Given the description of an element on the screen output the (x, y) to click on. 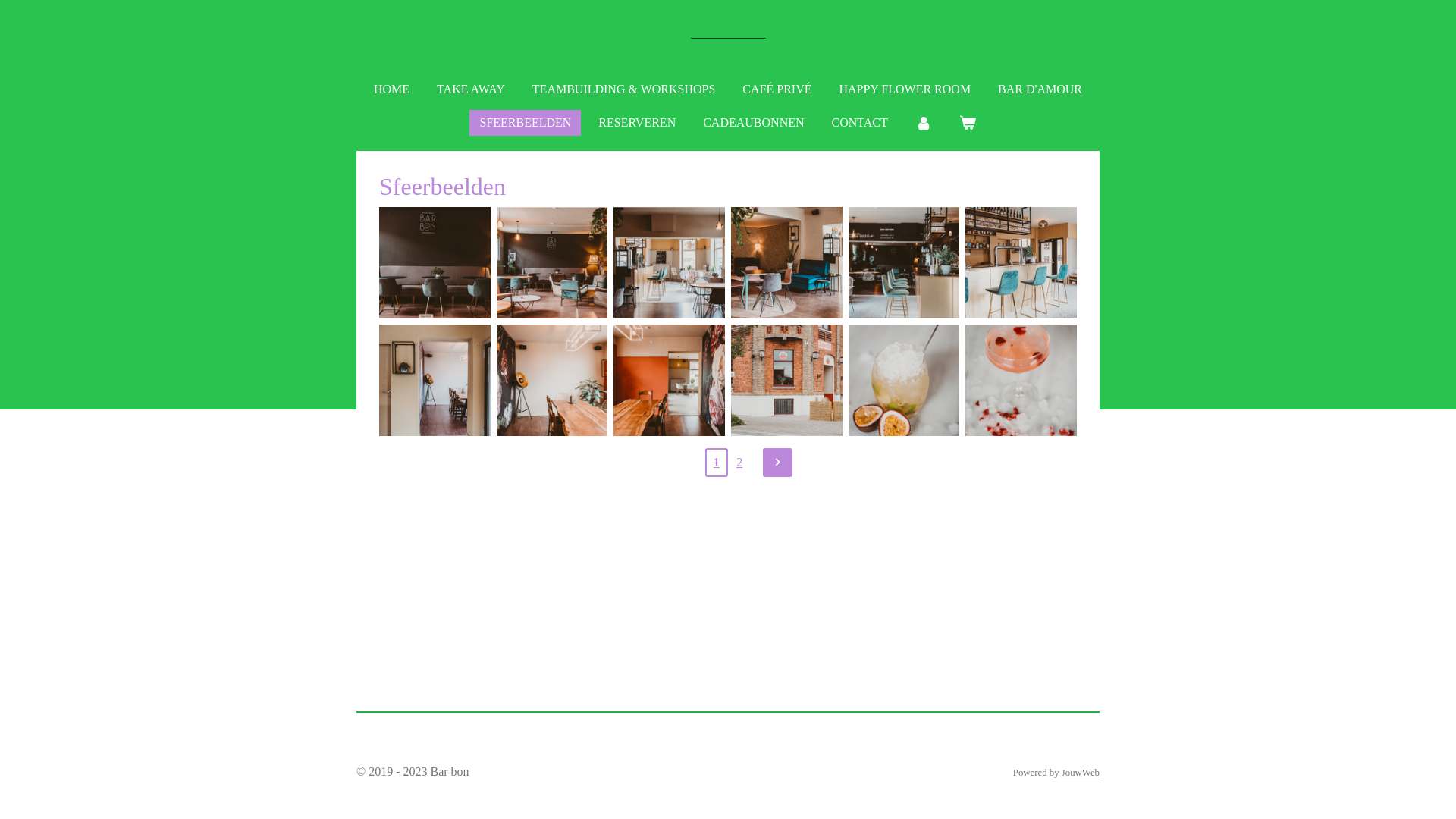
Account Element type: hover (923, 122)
1 Element type: text (716, 462)
JouwWeb Element type: text (1080, 772)
TAKE AWAY Element type: text (470, 89)
BAR D'AMOUR Element type: text (1040, 89)
Volgende pagina Element type: hover (776, 462)
HOME Element type: text (391, 89)
CADEAUBONNEN Element type: text (753, 122)
RESERVEREN Element type: text (636, 122)
SFEERBEELDEN Element type: text (524, 122)
Bekijk winkelwagen Element type: hover (967, 122)
CONTACT Element type: text (859, 122)
TEAMBUILDING & WORKSHOPS Element type: text (623, 89)
2 Element type: text (739, 462)
Bar bon Element type: hover (727, 37)
HAPPY FLOWER ROOM Element type: text (904, 89)
